Given the description of an element on the screen output the (x, y) to click on. 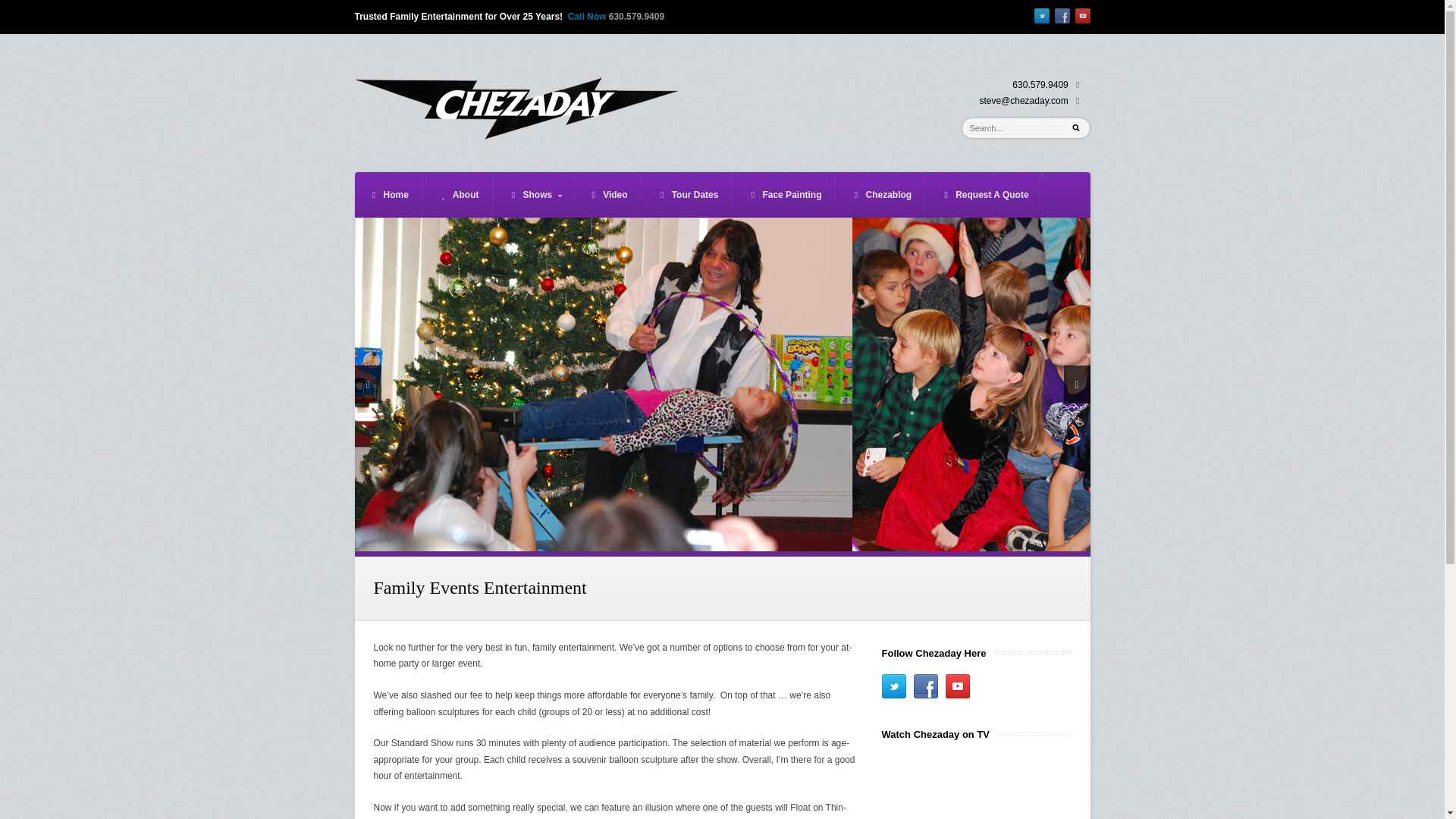
630.579.9409 (1039, 84)
youtube (956, 686)
facebook (924, 686)
Request A Quote (984, 194)
twitter (1041, 14)
Chezablog (879, 194)
About (458, 194)
Tour Dates (687, 194)
Video (606, 194)
Home (388, 194)
youtube (1082, 14)
twitter (892, 686)
facebook (1061, 14)
Face Painting (783, 194)
630.579.9409 (635, 16)
